Given the description of an element on the screen output the (x, y) to click on. 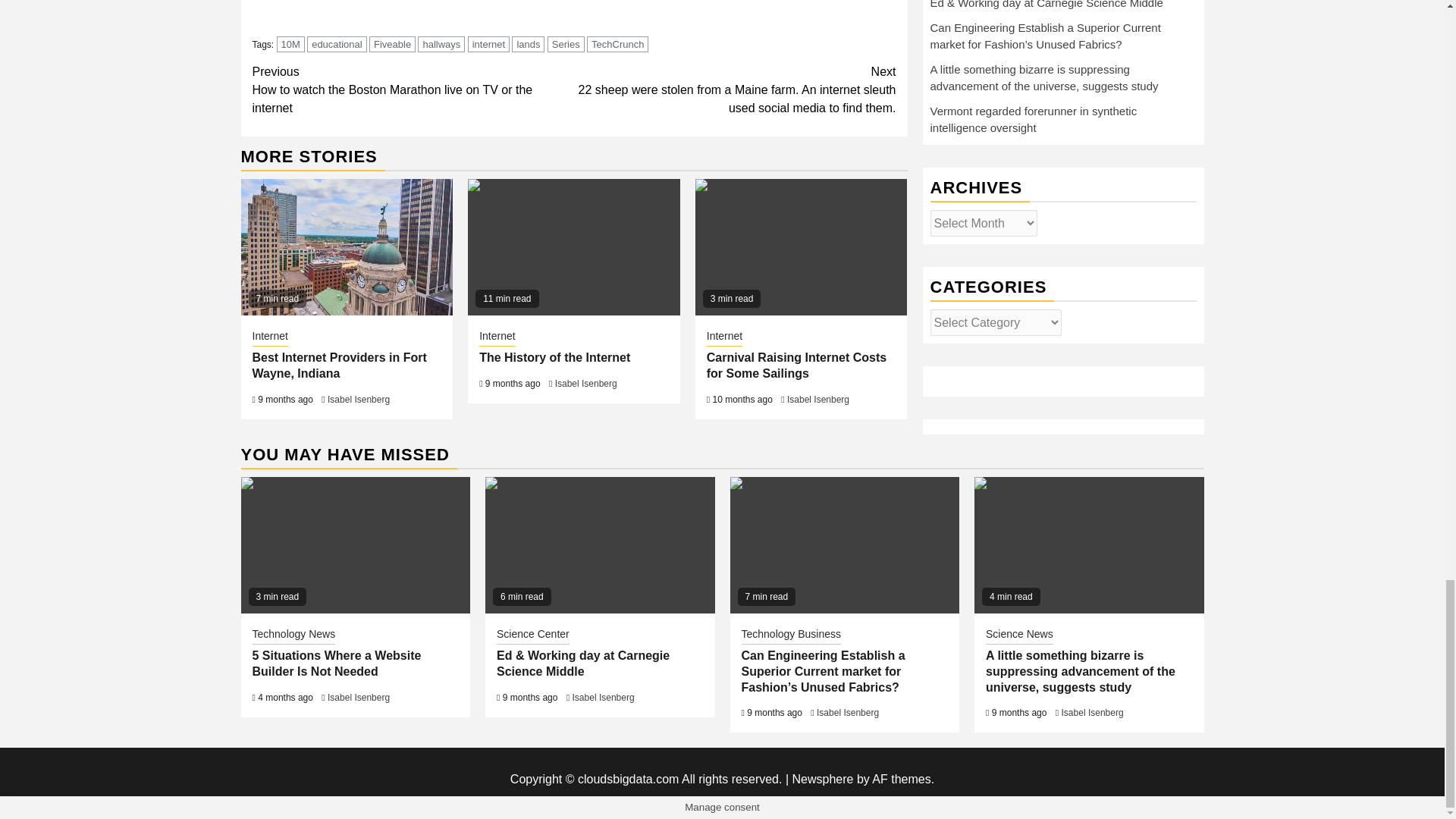
lands (528, 44)
internet (488, 44)
Carnival Raising Internet Costs for Some Sailings (801, 247)
The History of the Internet (573, 247)
TechCrunch (616, 44)
Series (566, 44)
Fiveable (391, 44)
10M (290, 44)
Best Internet Providers in Fort Wayne, Indiana (338, 365)
